Given the description of an element on the screen output the (x, y) to click on. 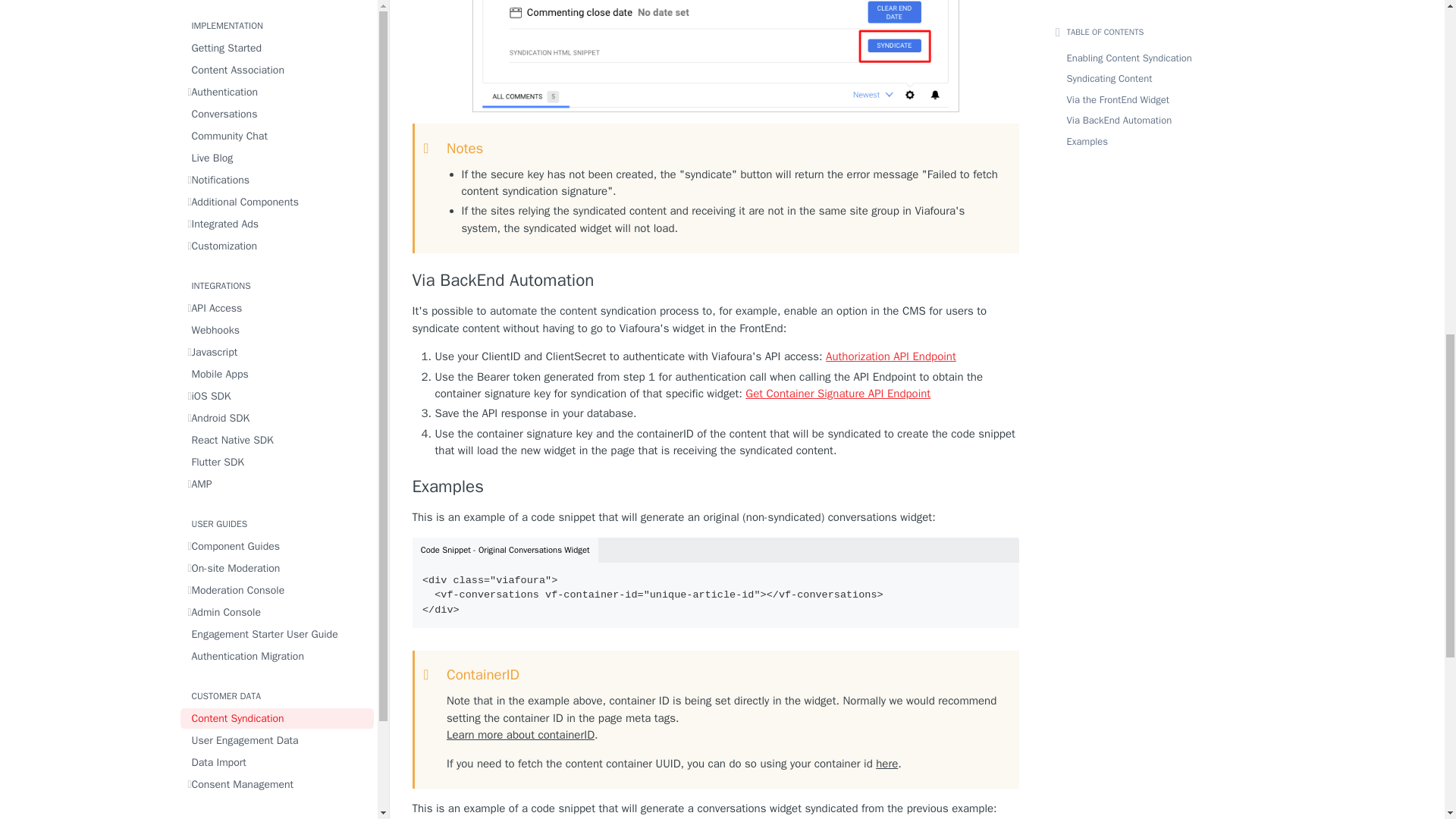
Via BackEnd Automation (715, 280)
Examples (715, 486)
content-syndication-1.png (714, 56)
